Given the description of an element on the screen output the (x, y) to click on. 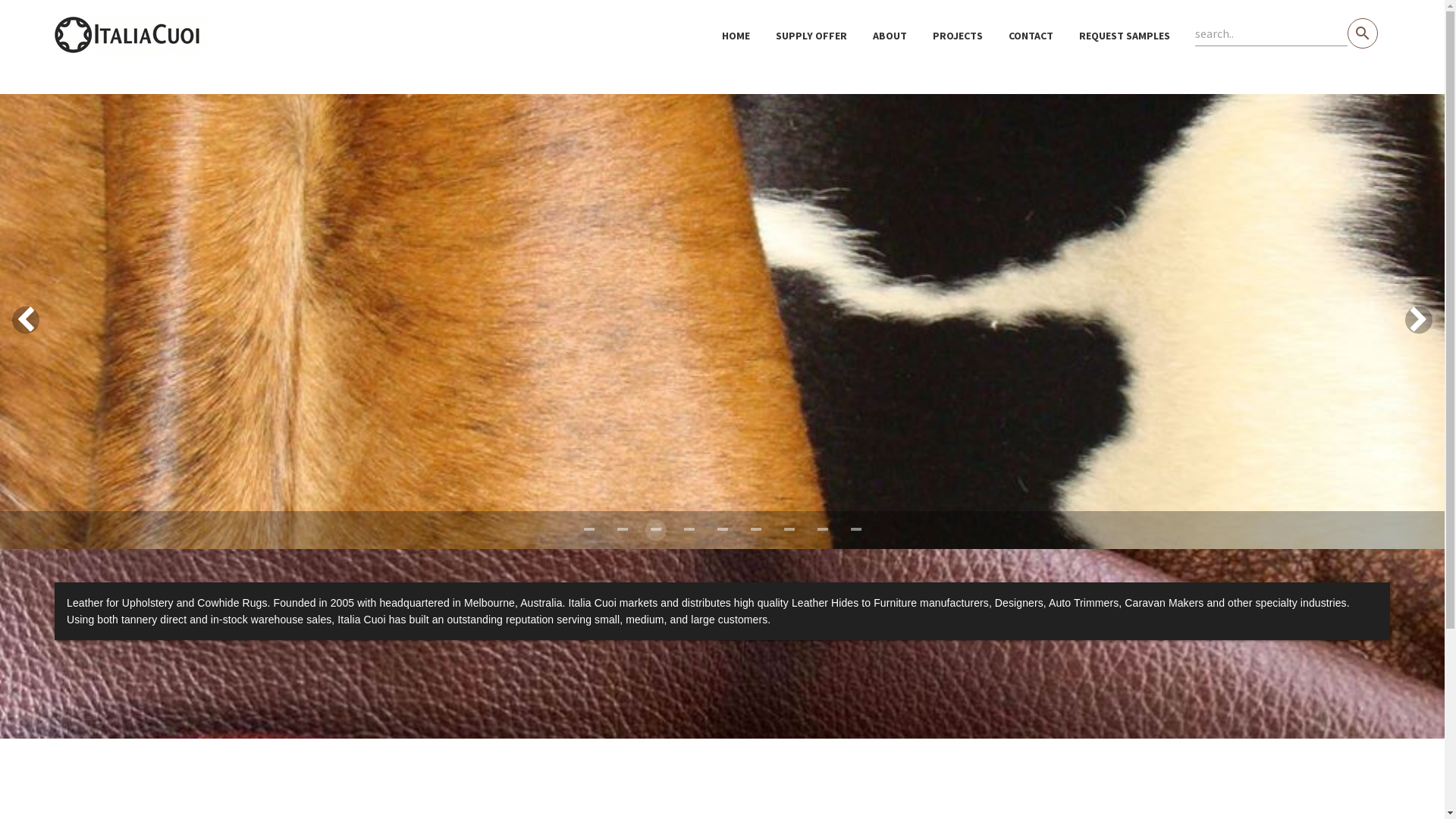
5 Element type: text (754, 529)
8 Element type: text (855, 529)
2 Element type: text (654, 529)
ABOUT Element type: text (889, 35)
0 Element type: text (588, 529)
7 Element type: text (821, 529)
6 Element type: text (788, 529)
4 Element type: text (721, 529)
PROJECTS Element type: text (957, 35)
HOME Element type: text (735, 35)
1 Element type: text (621, 529)
REQUEST SAMPLES Element type: text (1124, 35)
CONTACT Element type: text (1030, 35)
SUPPLY OFFER Element type: text (810, 35)
3 Element type: text (688, 529)
